Given the description of an element on the screen output the (x, y) to click on. 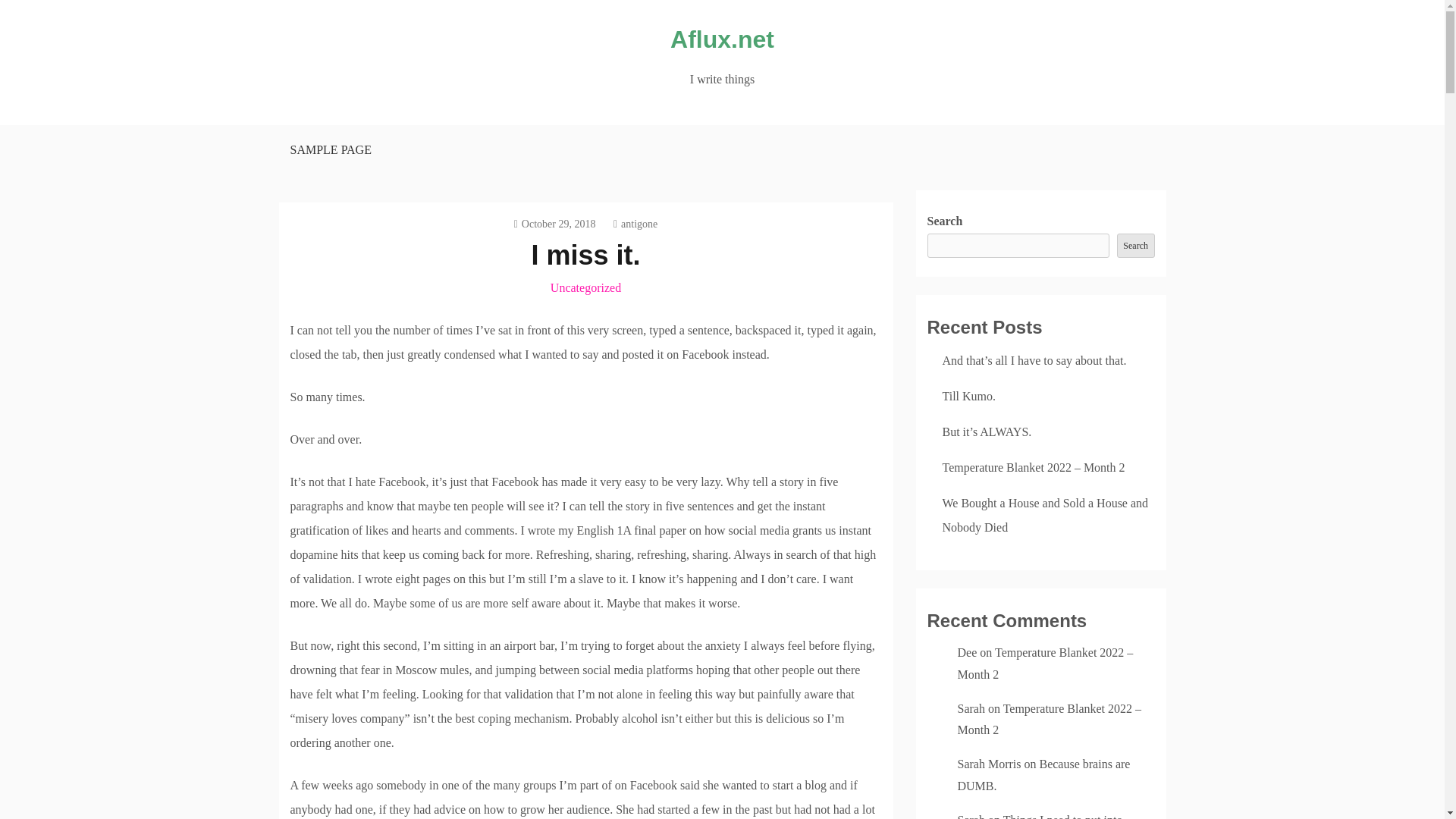
Search (1135, 245)
Sarah (970, 707)
Uncategorized (585, 287)
Till Kumo. (968, 395)
antigone (635, 224)
We Bought a House and Sold a House and Nobody Died (1045, 514)
SAMPLE PAGE (329, 150)
October 29, 2018 (554, 224)
Dee (966, 652)
